Given the description of an element on the screen output the (x, y) to click on. 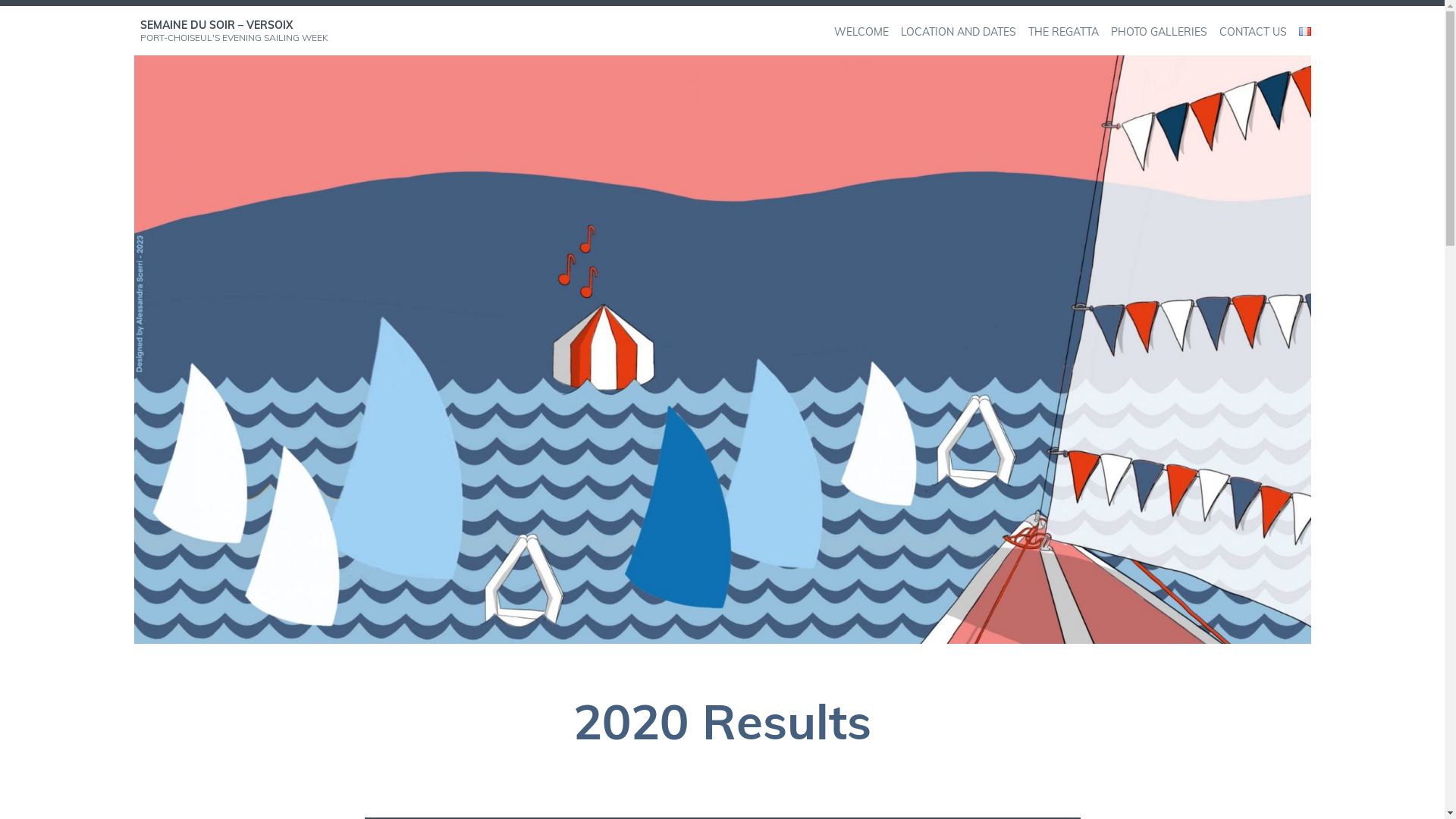
LOCATION AND DATES Element type: text (958, 31)
CONTACT US Element type: text (1252, 31)
WELCOME Element type: text (861, 31)
THE REGATTA Element type: text (1063, 31)
PHOTO GALLERIES Element type: text (1158, 31)
